Given the description of an element on the screen output the (x, y) to click on. 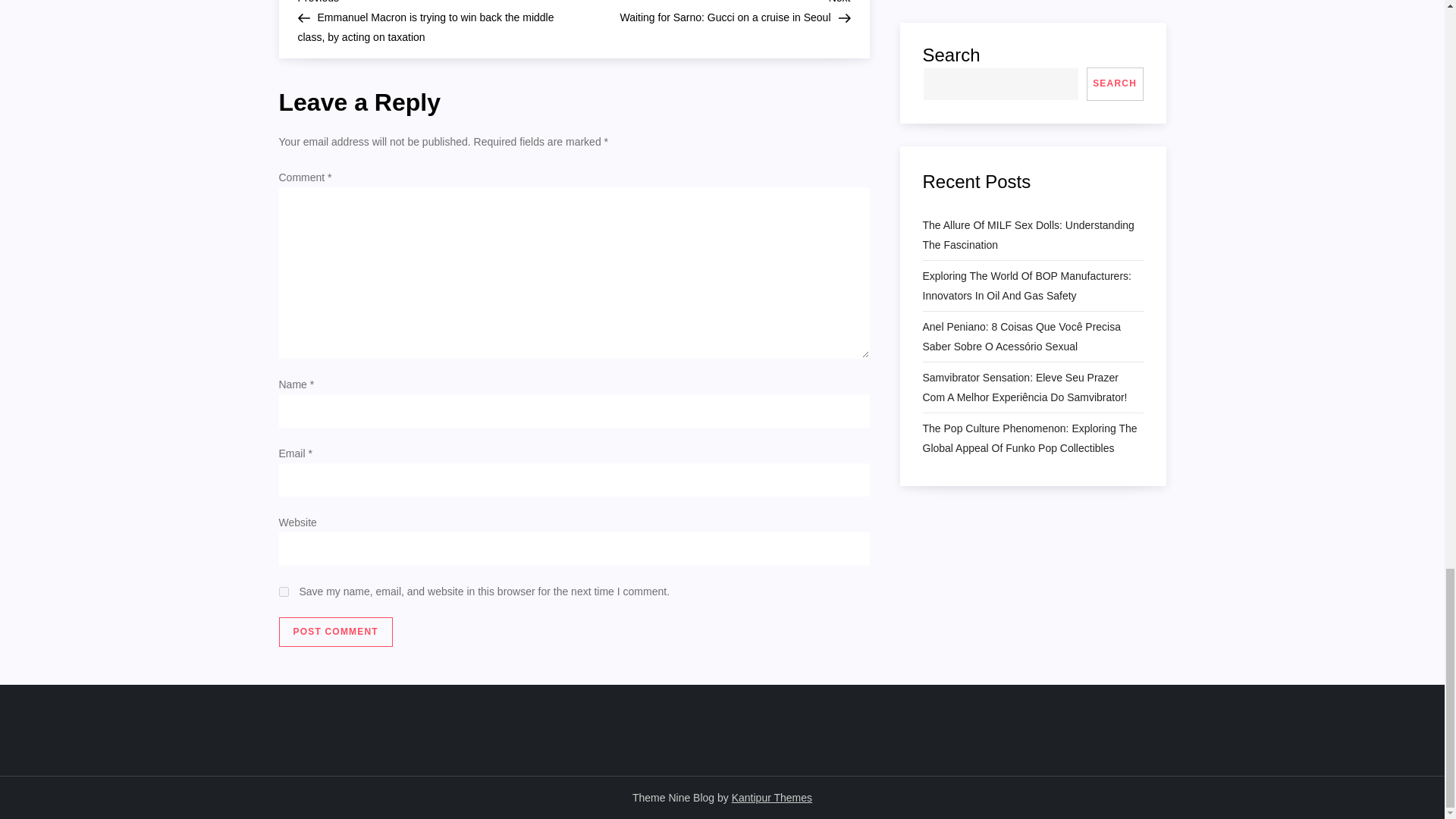
yes (283, 592)
Post Comment (711, 11)
Post Comment (336, 632)
Kantipur Themes (336, 632)
